Given the description of an element on the screen output the (x, y) to click on. 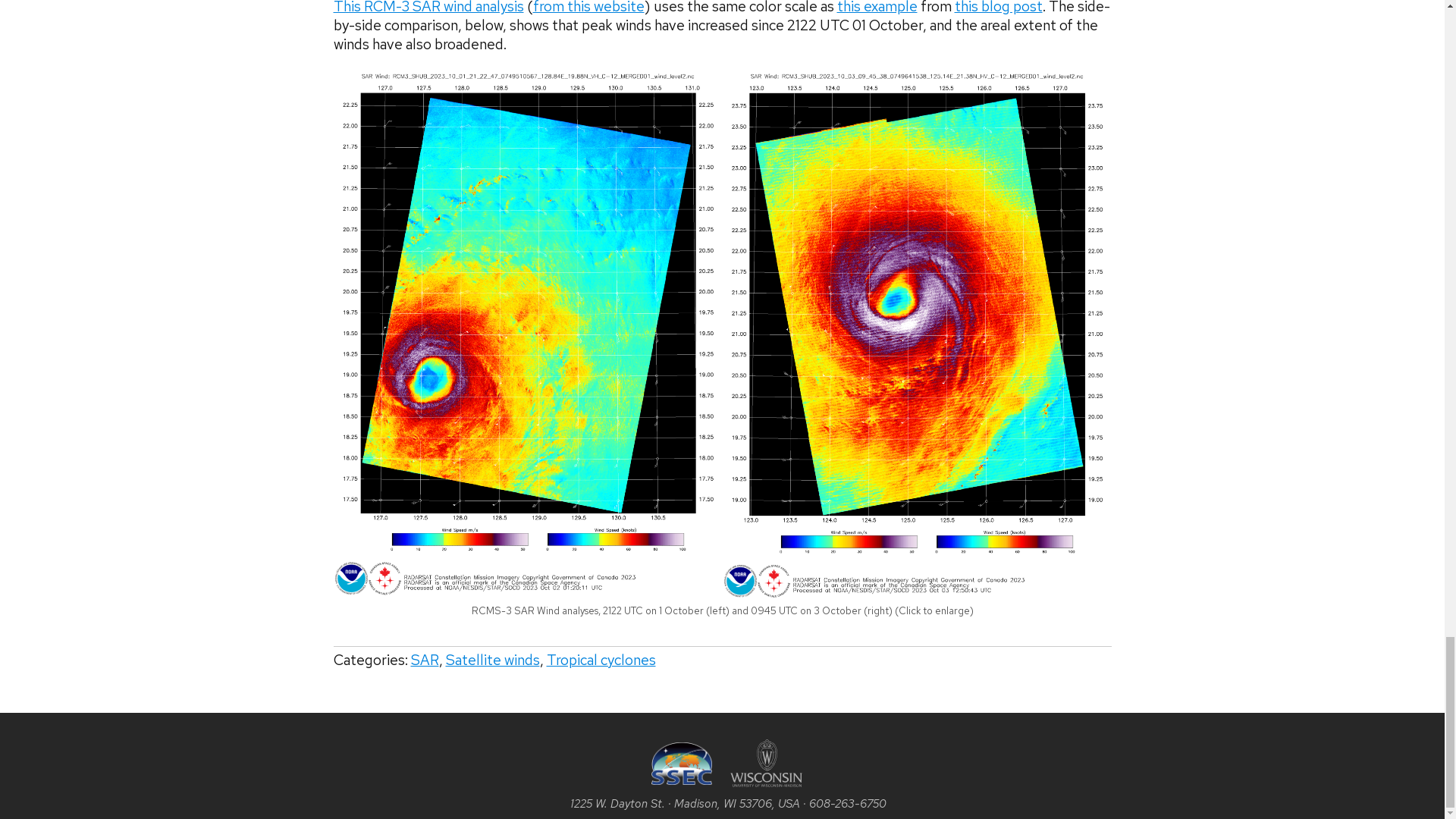
this blog post (997, 7)
from this website (587, 7)
this example (877, 7)
This RCM-3 SAR wind analysis (428, 7)
Satellite winds (492, 659)
SAR (424, 659)
Tropical cyclones (600, 659)
